Given the description of an element on the screen output the (x, y) to click on. 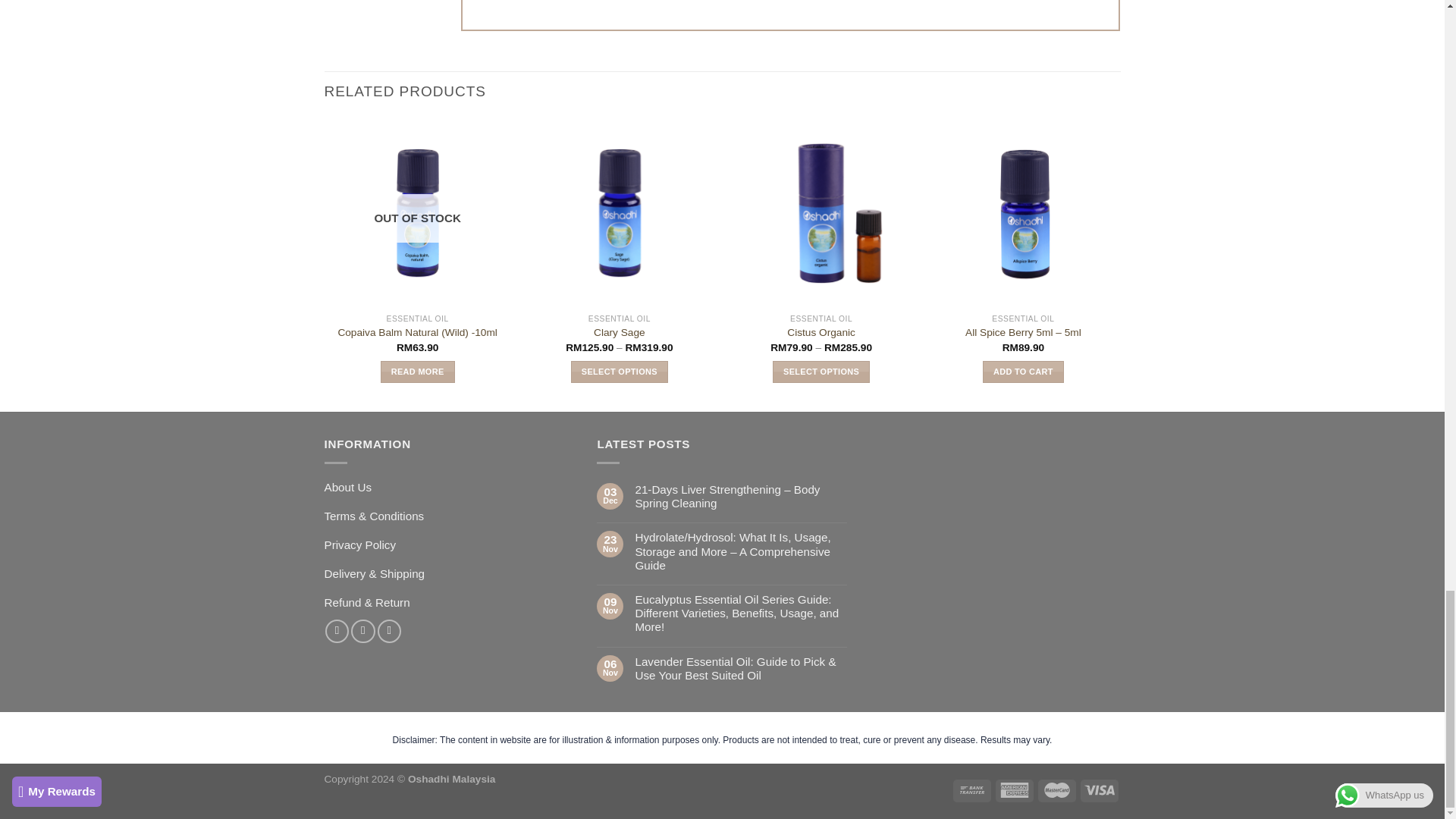
Follow on Instagram (362, 630)
Send us an email (389, 630)
Follow on Facebook (336, 630)
